Given the description of an element on the screen output the (x, y) to click on. 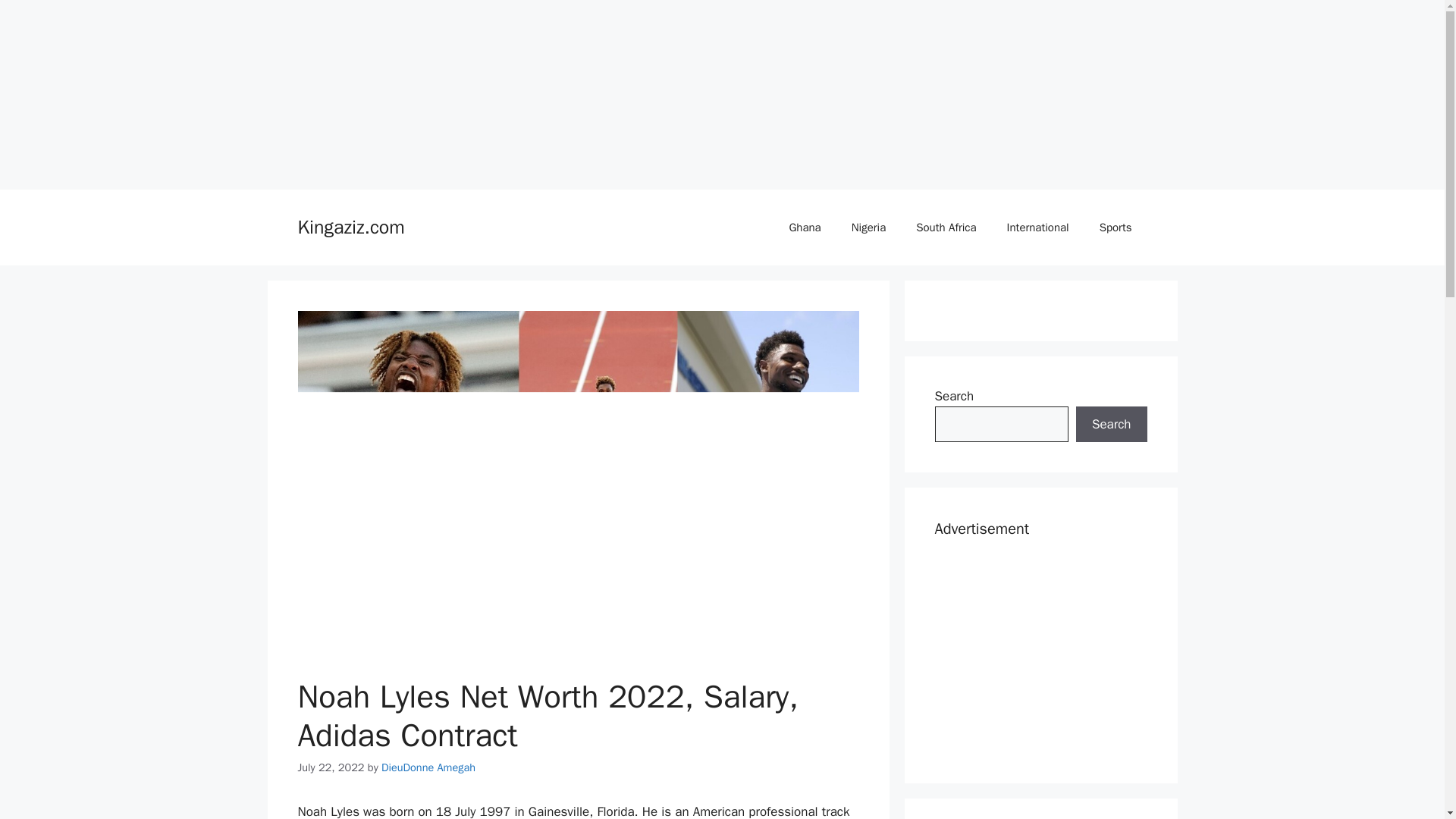
Search (1111, 424)
Kingaziz.com (350, 227)
View all posts by DieuDonne Amegah (428, 766)
South Africa (946, 227)
Sports (1115, 227)
Nigeria (868, 227)
International (1037, 227)
DieuDonne Amegah (428, 766)
Ghana (804, 227)
